Given the description of an element on the screen output the (x, y) to click on. 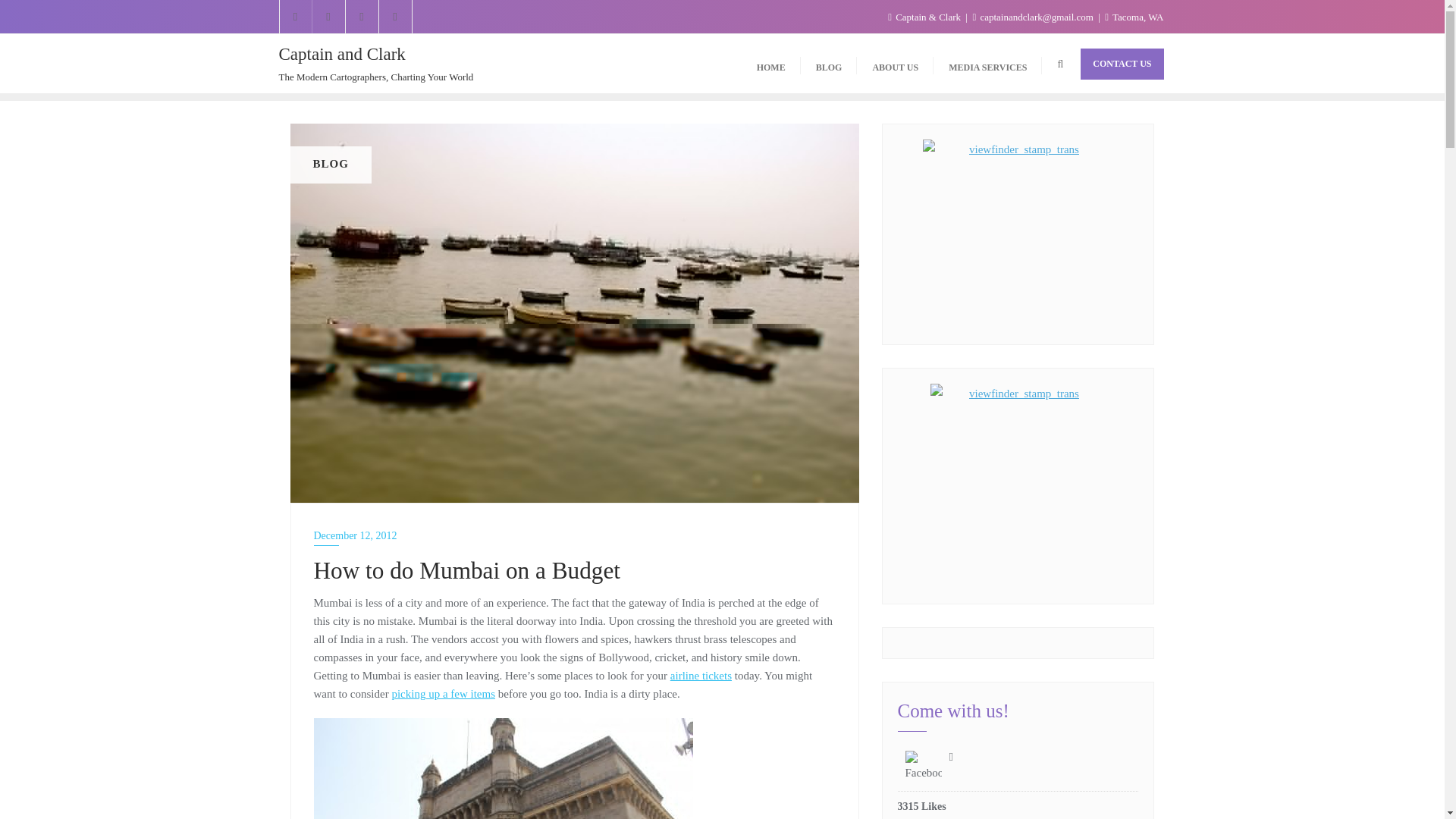
MEDIA SERVICES (987, 63)
picking up a few items (443, 693)
HOME (770, 63)
airline tickets (700, 675)
ABOUT US (895, 63)
December 12, 2012 (574, 535)
BLOG (828, 63)
CONTACT US (1122, 63)
